Given the description of an element on the screen output the (x, y) to click on. 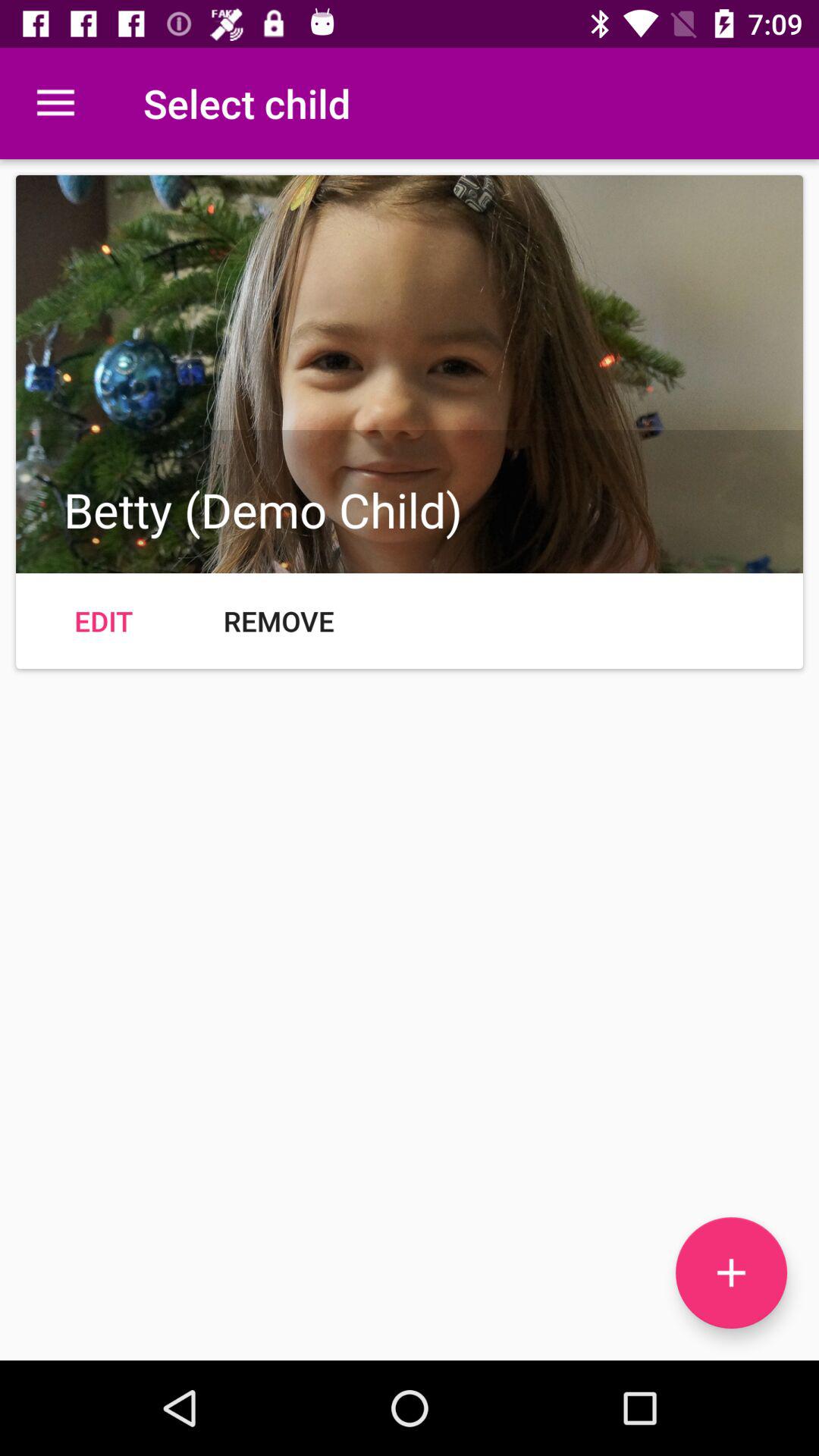
turn off the icon at the bottom right corner (731, 1272)
